Given the description of an element on the screen output the (x, y) to click on. 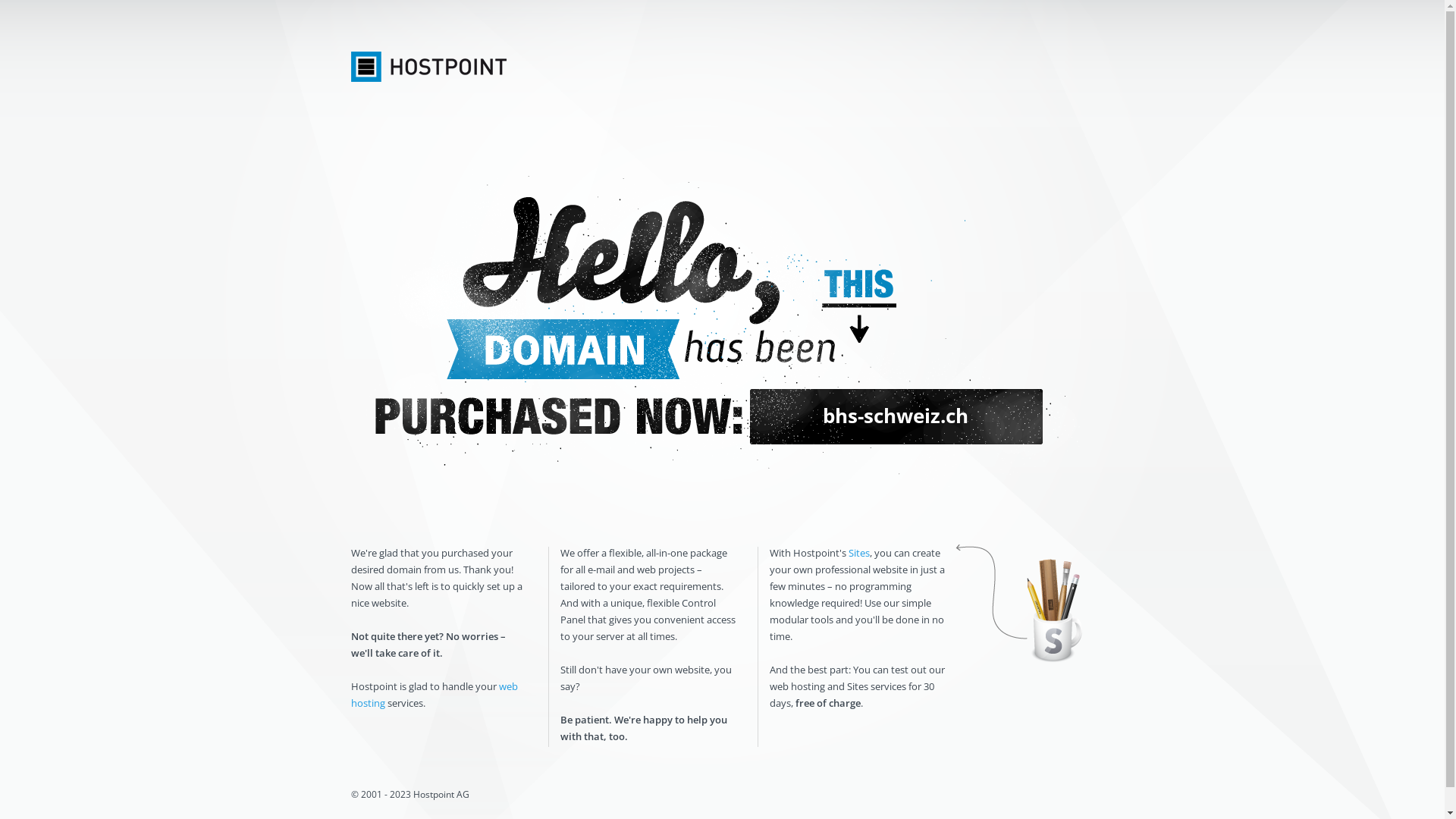
Sites Element type: text (858, 552)
web hosting Element type: text (433, 694)
